Given the description of an element on the screen output the (x, y) to click on. 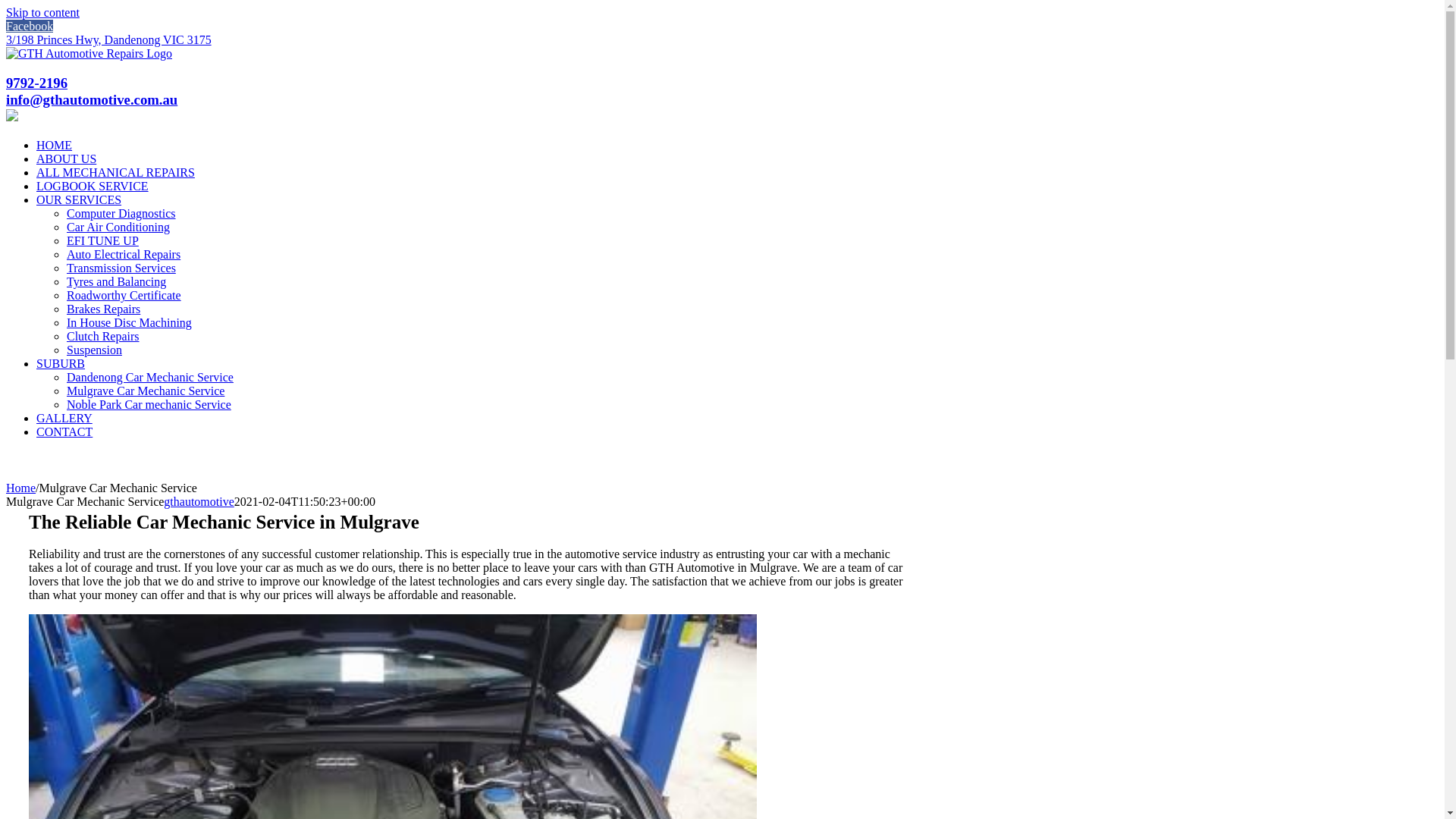
Auto Electrical Repairs Element type: text (123, 253)
HOME Element type: text (54, 144)
Car Air Conditioning Element type: text (117, 226)
Clutch Repairs Element type: text (102, 335)
Suspension Element type: text (94, 349)
3/198 Princes Hwy, Dandenong VIC 3175 Element type: text (108, 39)
Brakes Repairs Element type: text (103, 308)
Mulgrave Car Mechanic Service Element type: text (145, 390)
Skip to content Element type: text (42, 12)
SUBURB Element type: text (60, 363)
ALL MECHANICAL REPAIRS Element type: text (115, 172)
Dandenong Car Mechanic Service Element type: text (149, 376)
Noble Park Car mechanic Service Element type: text (148, 404)
Tyres and Balancing Element type: text (116, 281)
In House Disc Machining Element type: text (128, 322)
info@gthautomotive.com.au Element type: text (91, 99)
GALLERY Element type: text (64, 417)
LOGBOOK SERVICE Element type: text (92, 185)
ABOUT US Element type: text (66, 158)
OUR SERVICES Element type: text (78, 199)
9792-2196 Element type: text (36, 83)
Computer Diagnostics Element type: text (120, 213)
Facebook Element type: text (29, 25)
Home Element type: text (20, 487)
Roadworthy Certificate Element type: text (123, 294)
CONTACT Element type: text (64, 431)
EFI TUNE UP Element type: text (102, 240)
gthautomotive Element type: text (198, 501)
Transmission Services Element type: text (120, 267)
